Given the description of an element on the screen output the (x, y) to click on. 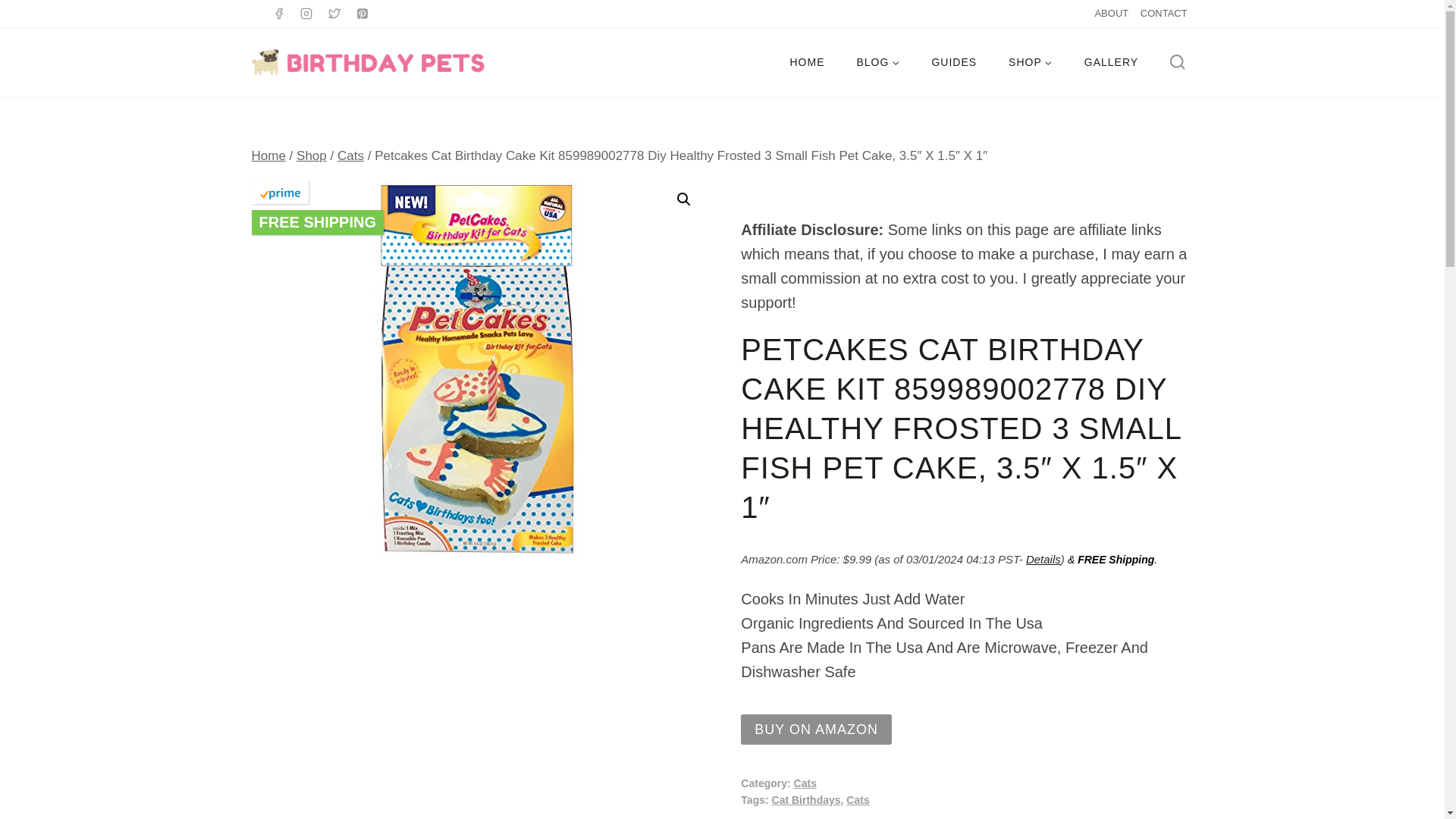
Shop (311, 155)
ABOUT (1111, 13)
BUY ON AMAZON (816, 729)
Details (1043, 558)
Cats (350, 155)
BLOG (877, 62)
CONTACT (1163, 13)
SHOP (1030, 62)
GALLERY (1111, 62)
Home (268, 155)
